Given the description of an element on the screen output the (x, y) to click on. 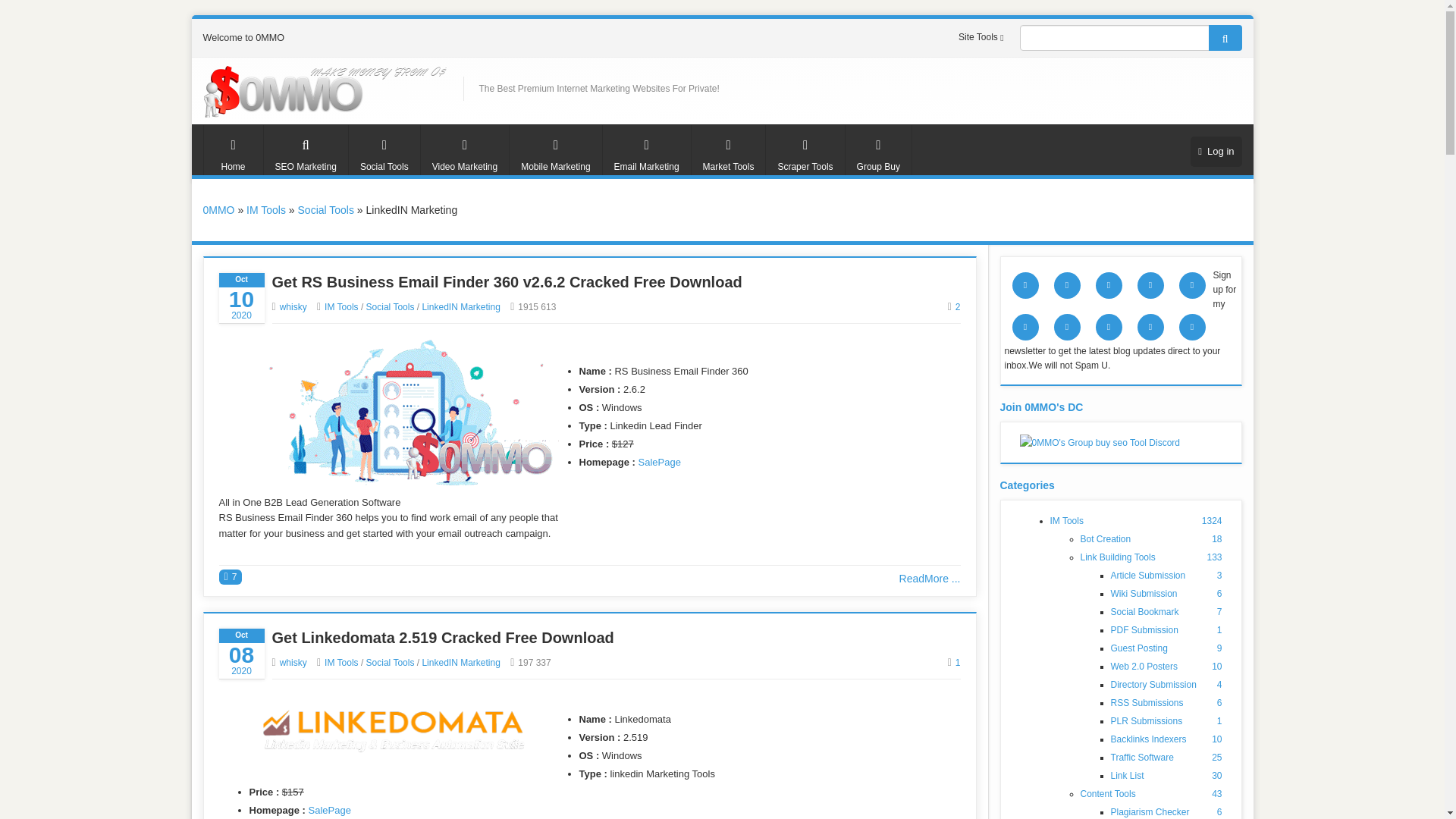
SEO Marketing (304, 150)
Site Tools (983, 36)
Home (233, 150)
